Given the description of an element on the screen output the (x, y) to click on. 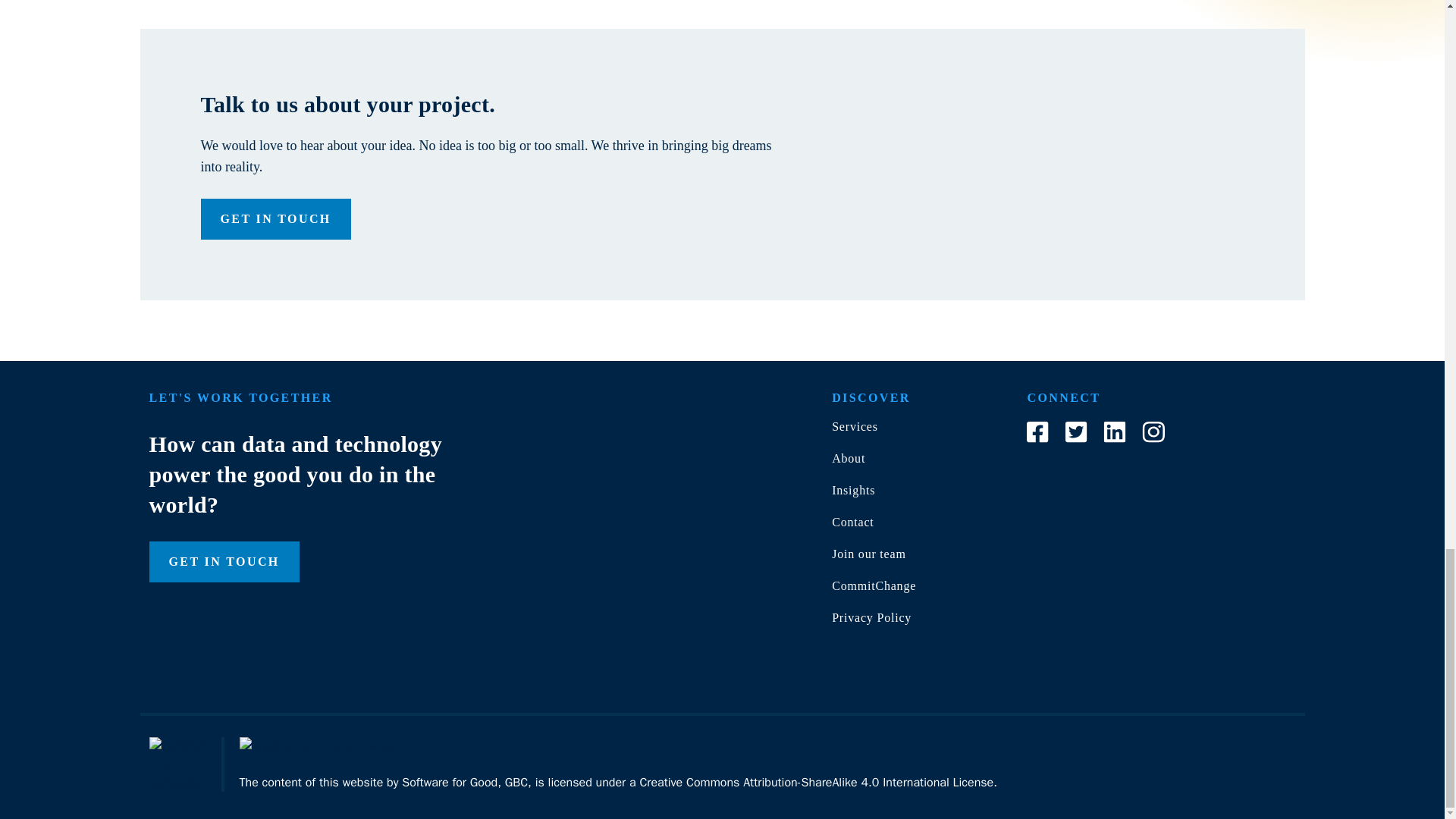
About (847, 458)
Insights (853, 490)
CommitChange (873, 585)
GET IN TOUCH (275, 219)
Join our team (868, 553)
Contact (852, 521)
GET IN TOUCH (223, 561)
Privacy Policy (871, 617)
Services (854, 426)
